Given the description of an element on the screen output the (x, y) to click on. 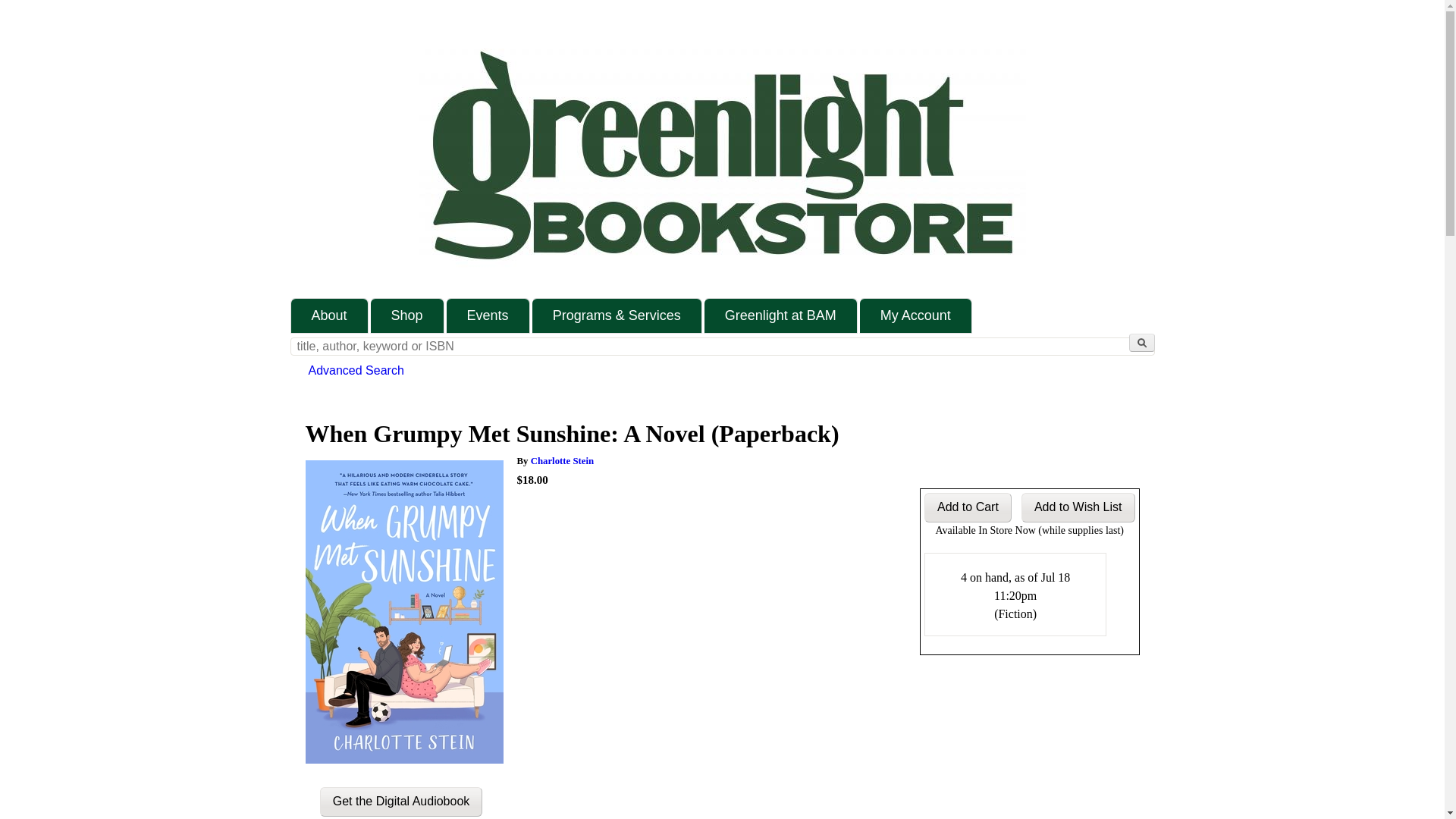
Get the Digital Audiobook (401, 801)
Search (1141, 342)
About (329, 315)
Add to Cart (967, 507)
Shop (407, 315)
